Given the description of an element on the screen output the (x, y) to click on. 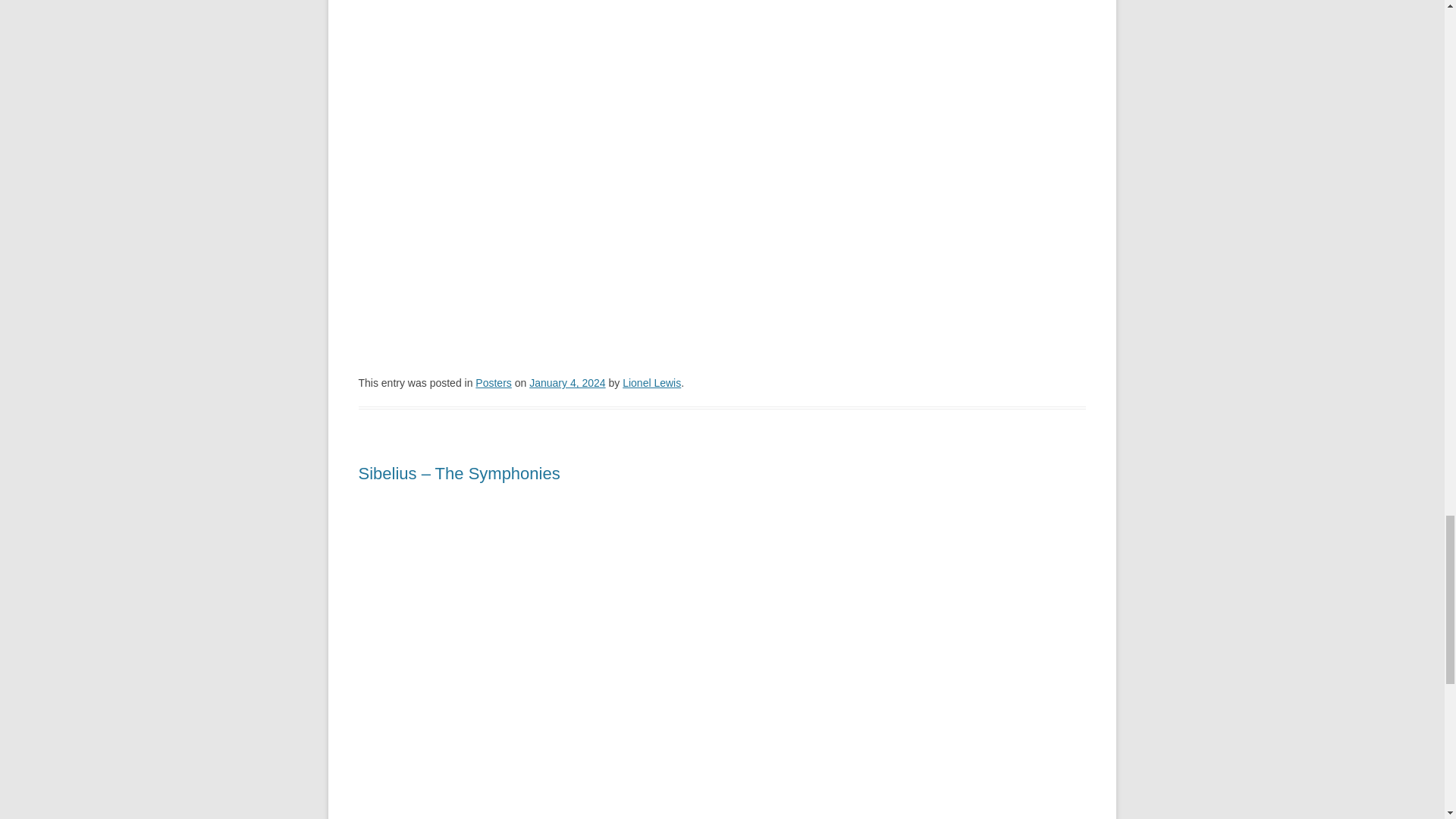
6:49 pm (567, 382)
Lionel Lewis (652, 382)
Posters (493, 382)
January 4, 2024 (567, 382)
View all posts by Lionel Lewis (652, 382)
